Given the description of an element on the screen output the (x, y) to click on. 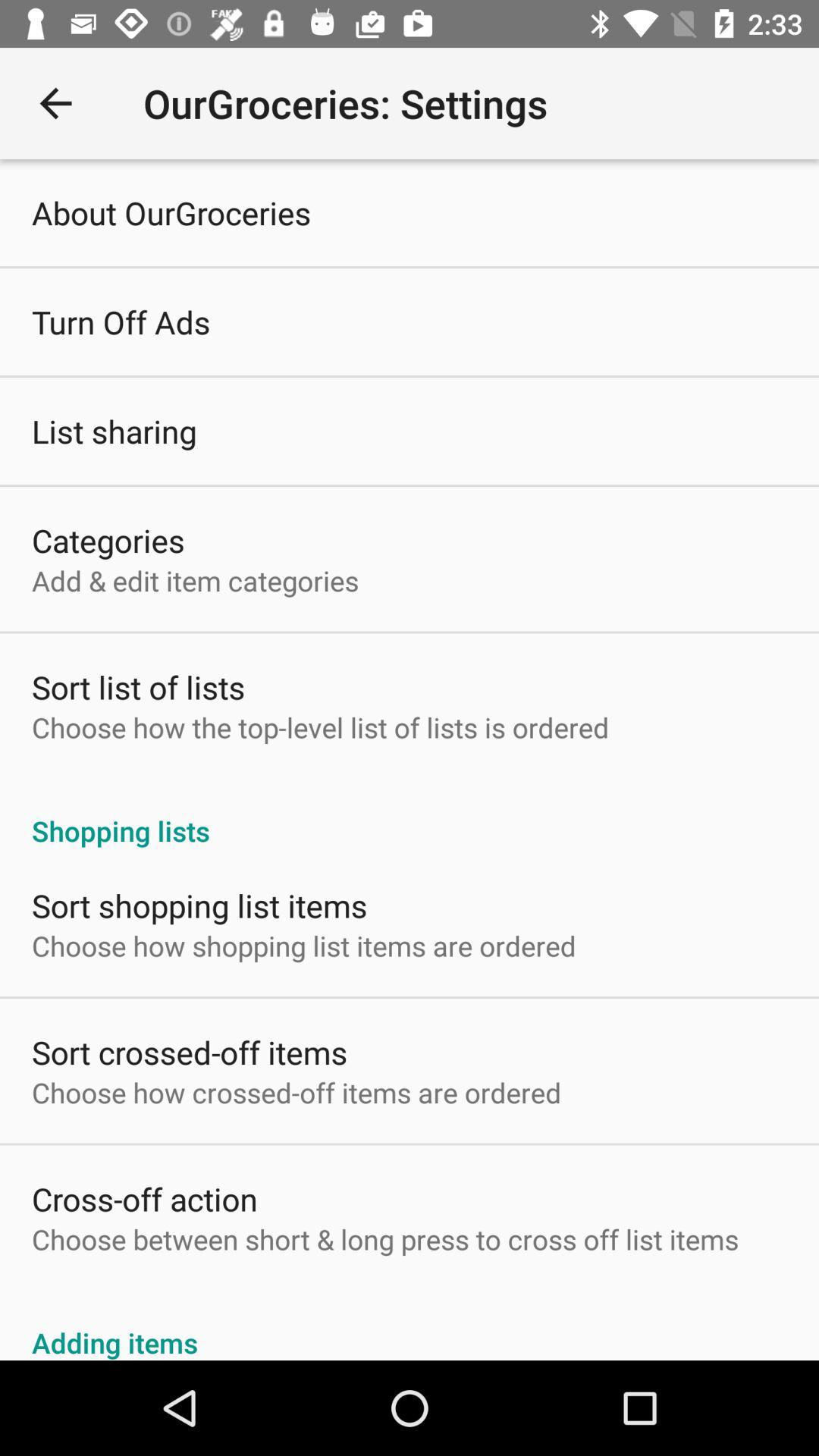
press the icon above turn off ads icon (171, 212)
